Given the description of an element on the screen output the (x, y) to click on. 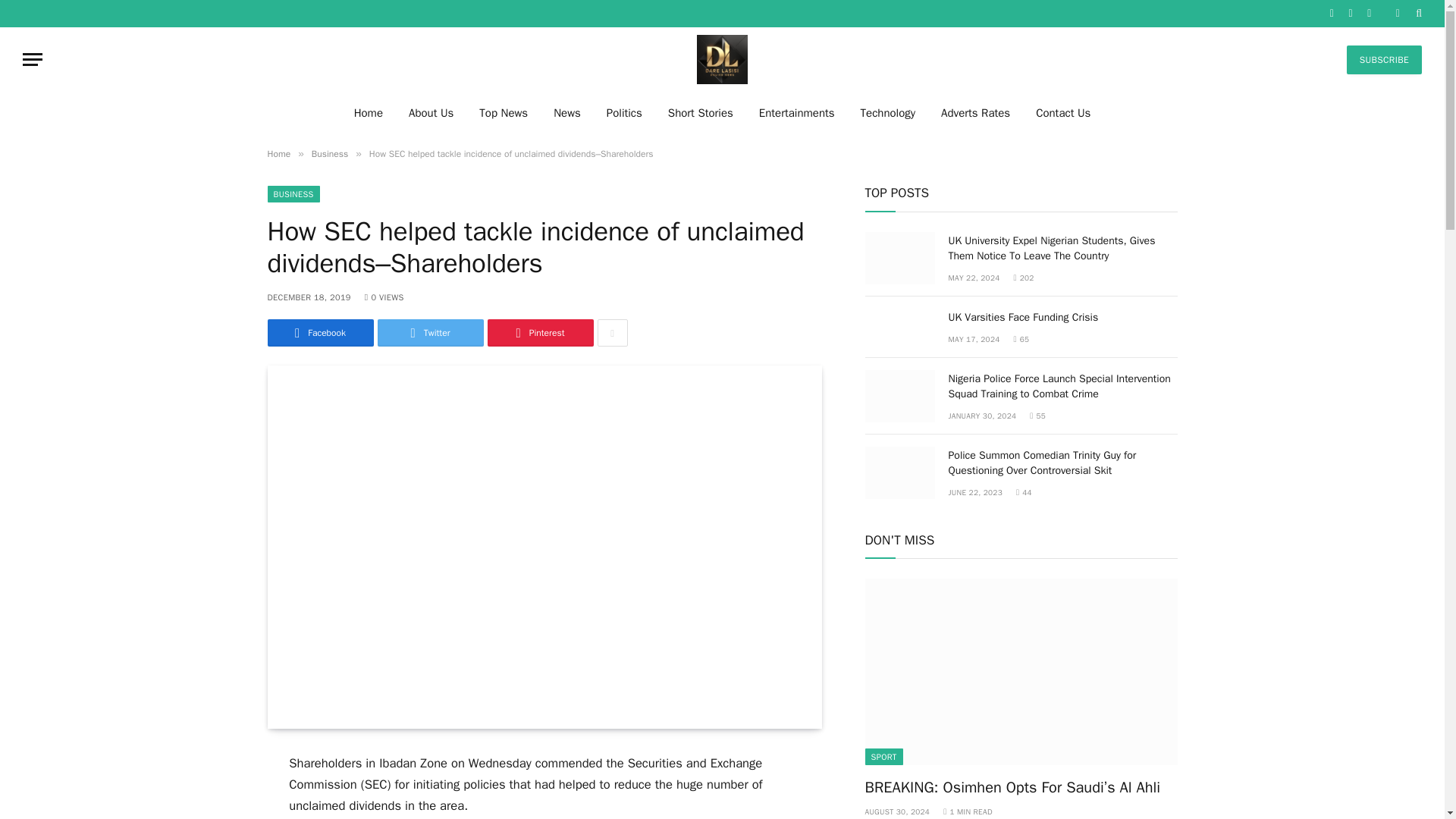
Home (368, 112)
Adverts Rates (975, 112)
SUBSCRIBE (1384, 59)
About Us (430, 112)
Short Stories (700, 112)
Top News (502, 112)
0 Article Views (384, 296)
Switch to Dark Design - easier on eyes. (1397, 13)
Share on Facebook (319, 332)
News (567, 112)
